Given the description of an element on the screen output the (x, y) to click on. 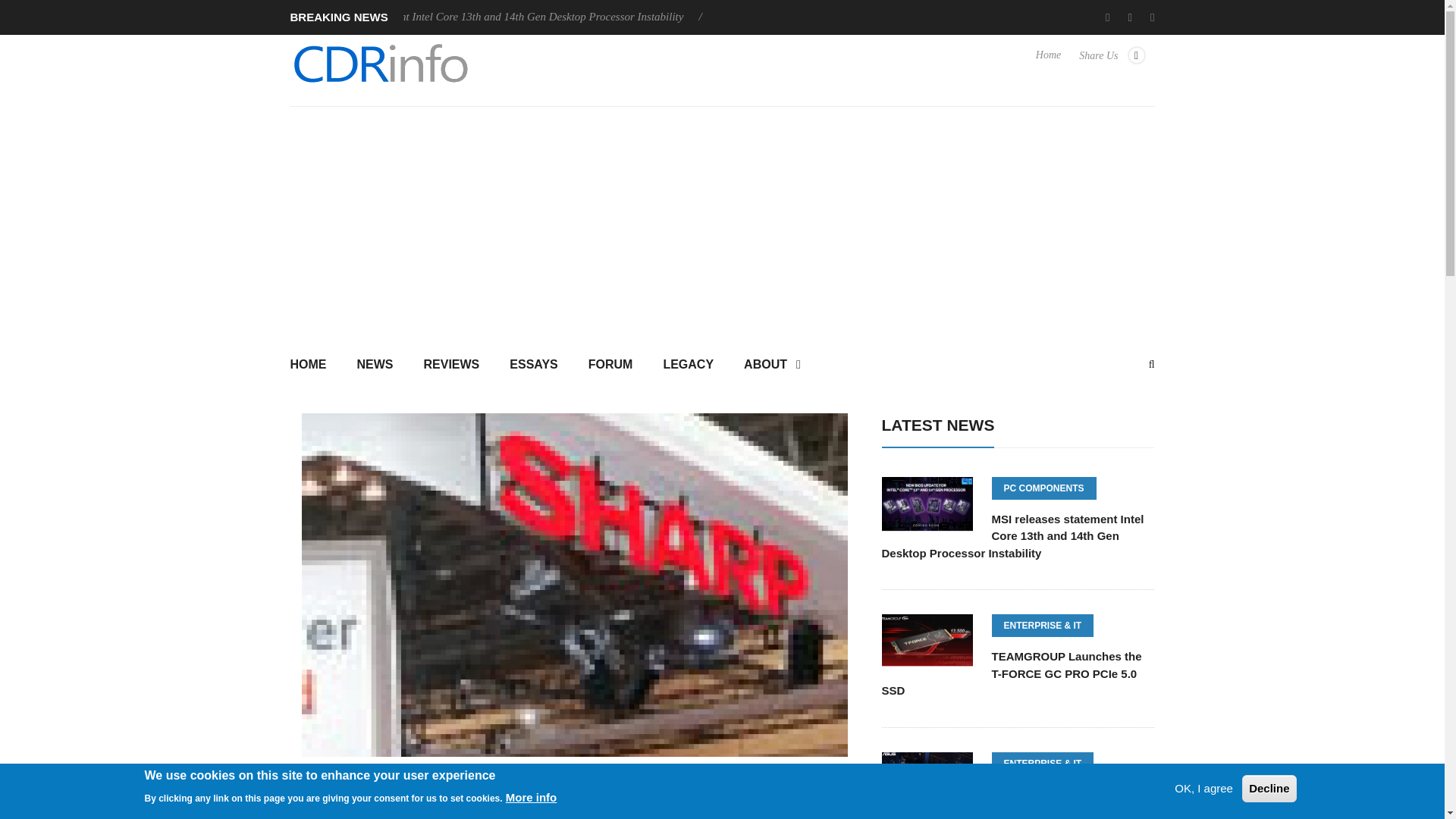
ESSAYS (533, 366)
ABOUT (772, 366)
FORUM (610, 366)
REVIEWS (451, 366)
Home (1048, 62)
Search (722, 499)
NEWS (373, 366)
TEAMGROUP Launches the T-FORCE GC PRO PCIe 5.0 SSD (873, 16)
Share Us (1112, 62)
LEGACY (688, 366)
